Given the description of an element on the screen output the (x, y) to click on. 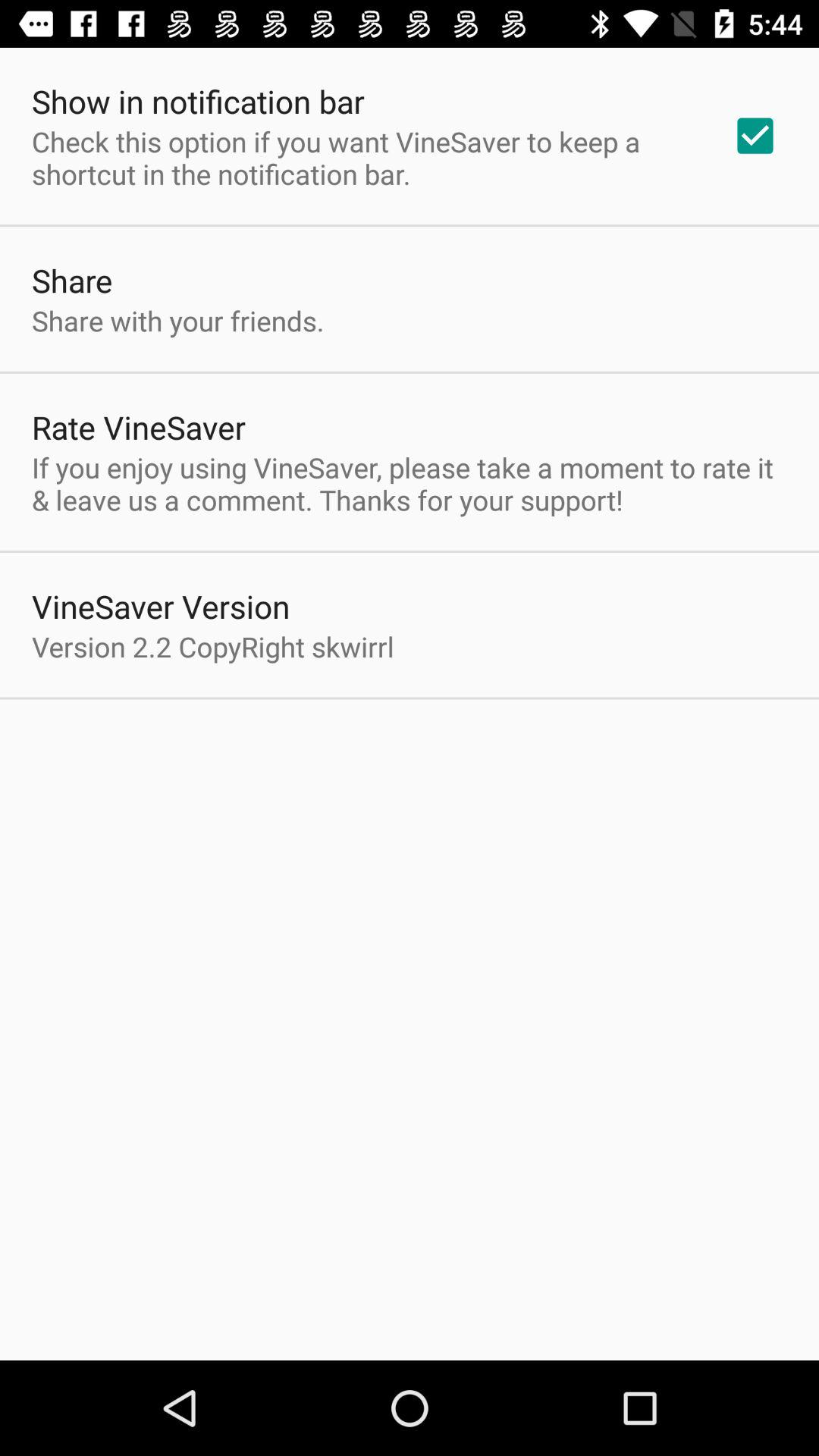
choose the item below vinesaver version icon (212, 646)
